Given the description of an element on the screen output the (x, y) to click on. 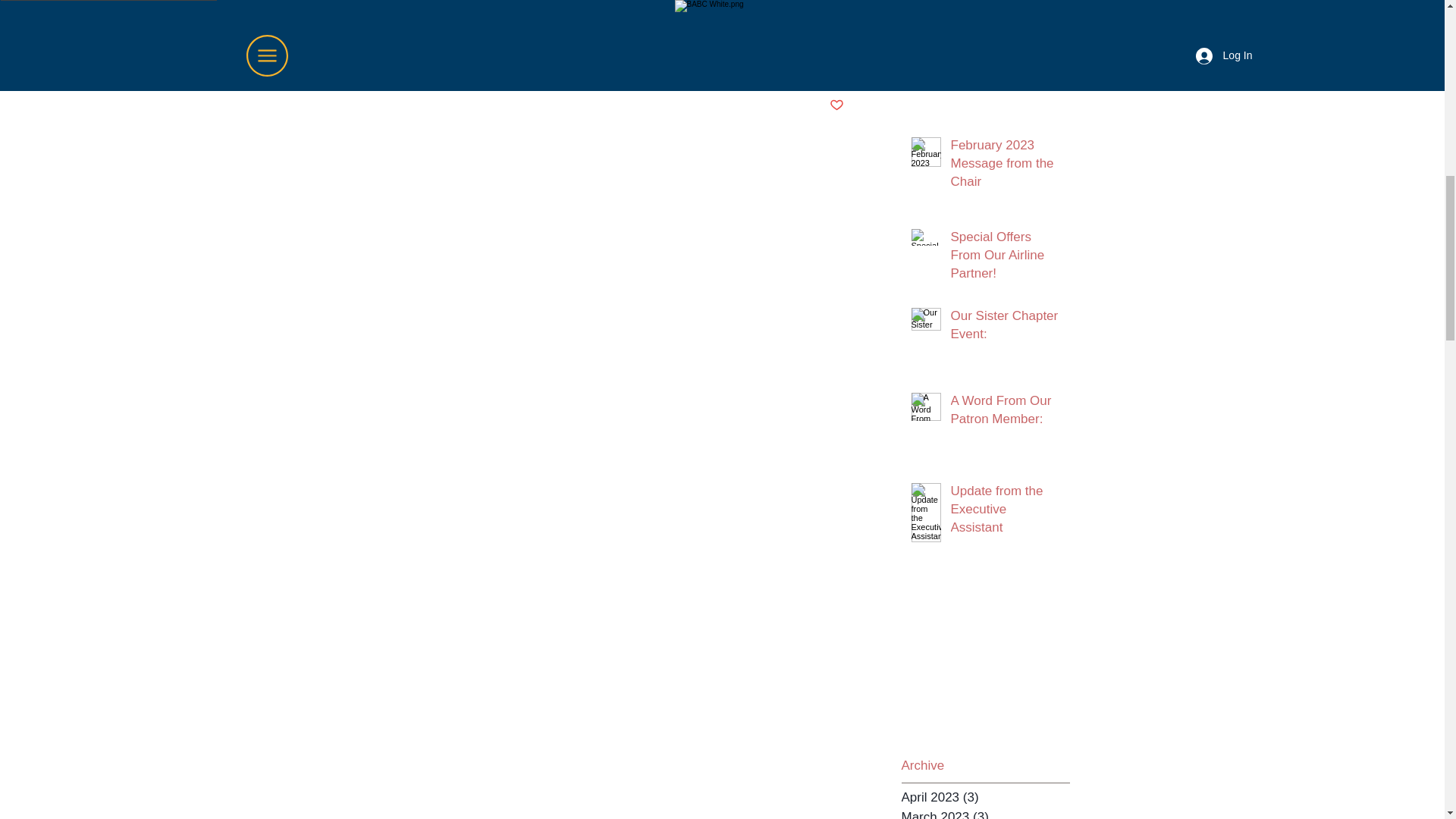
Imports (516, 6)
Update from the Executive Assistant (1005, 45)
Update from the Executive Assistant (1005, 512)
Special Offers From Our Airline Partner! (1005, 258)
Our Sister Chapter Event: (1005, 328)
February 2023 Message from the Chair (1005, 166)
Post not marked as liked (836, 105)
UK business (448, 6)
A Word From Our Patron Member: (1005, 413)
